Given the description of an element on the screen output the (x, y) to click on. 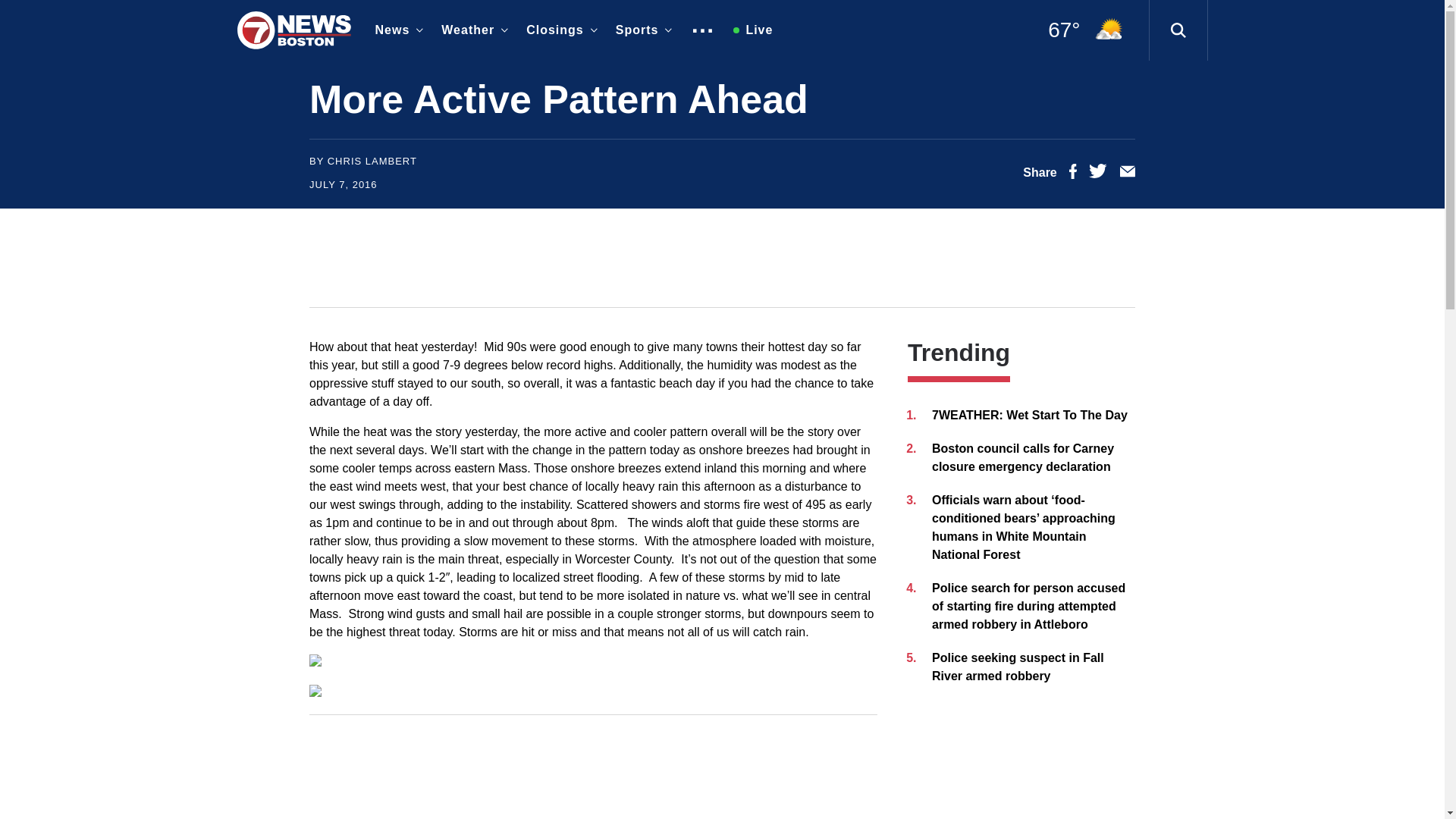
Email (1127, 174)
Weather (471, 30)
July 7, 2016 (342, 184)
Closings (558, 30)
Sports (641, 30)
Twitter (1098, 174)
News (395, 30)
Posts by Chris Lambert (371, 161)
